Given the description of an element on the screen output the (x, y) to click on. 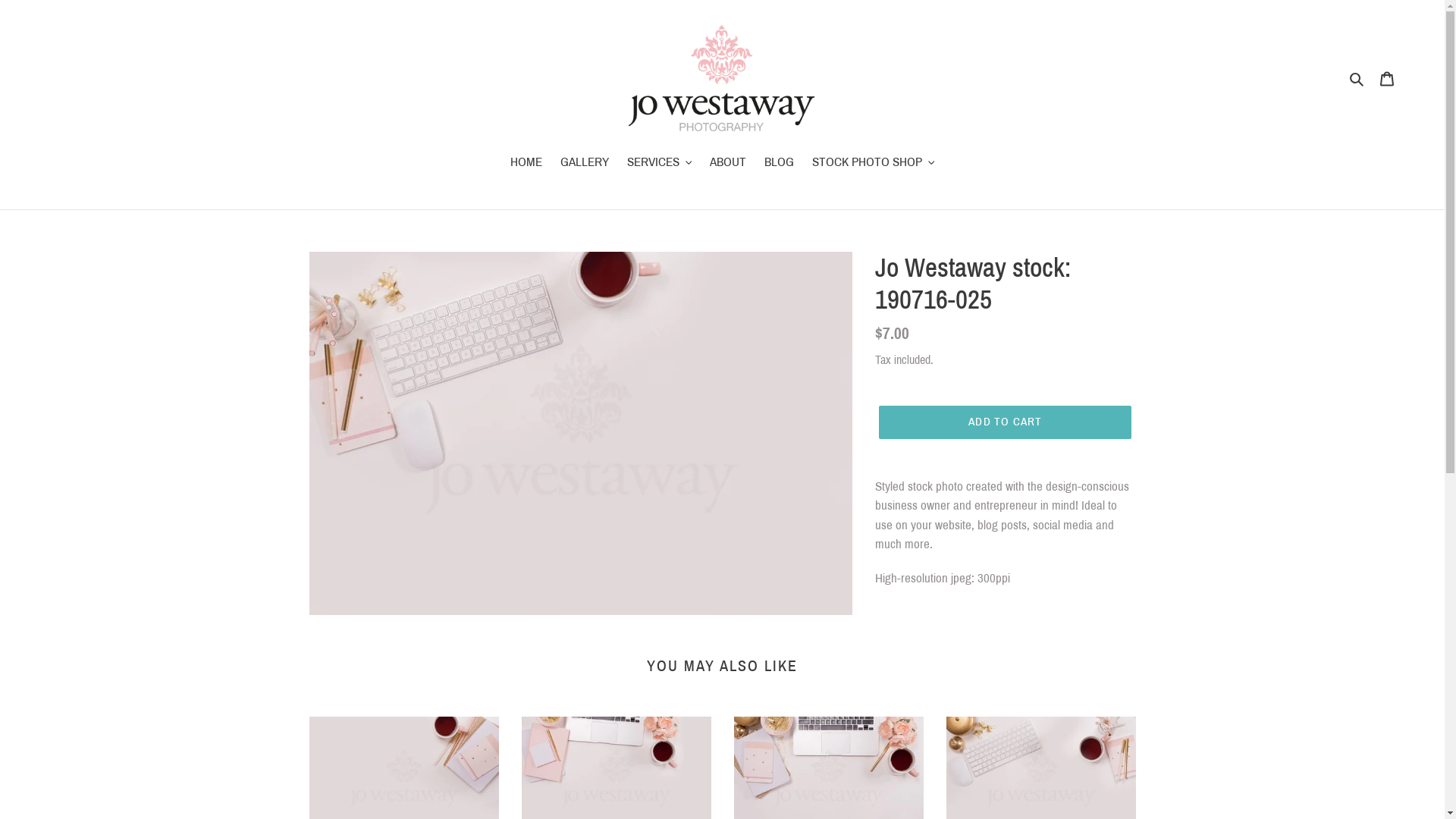
ABOUT Element type: text (727, 163)
Cart Element type: text (1386, 77)
HOME Element type: text (525, 163)
SERVICES Element type: text (658, 163)
ADD TO CART Element type: text (1004, 422)
BLOG Element type: text (778, 163)
STOCK PHOTO SHOP Element type: text (873, 163)
GALLERY Element type: text (583, 163)
Search Element type: text (1357, 77)
